Given the description of an element on the screen output the (x, y) to click on. 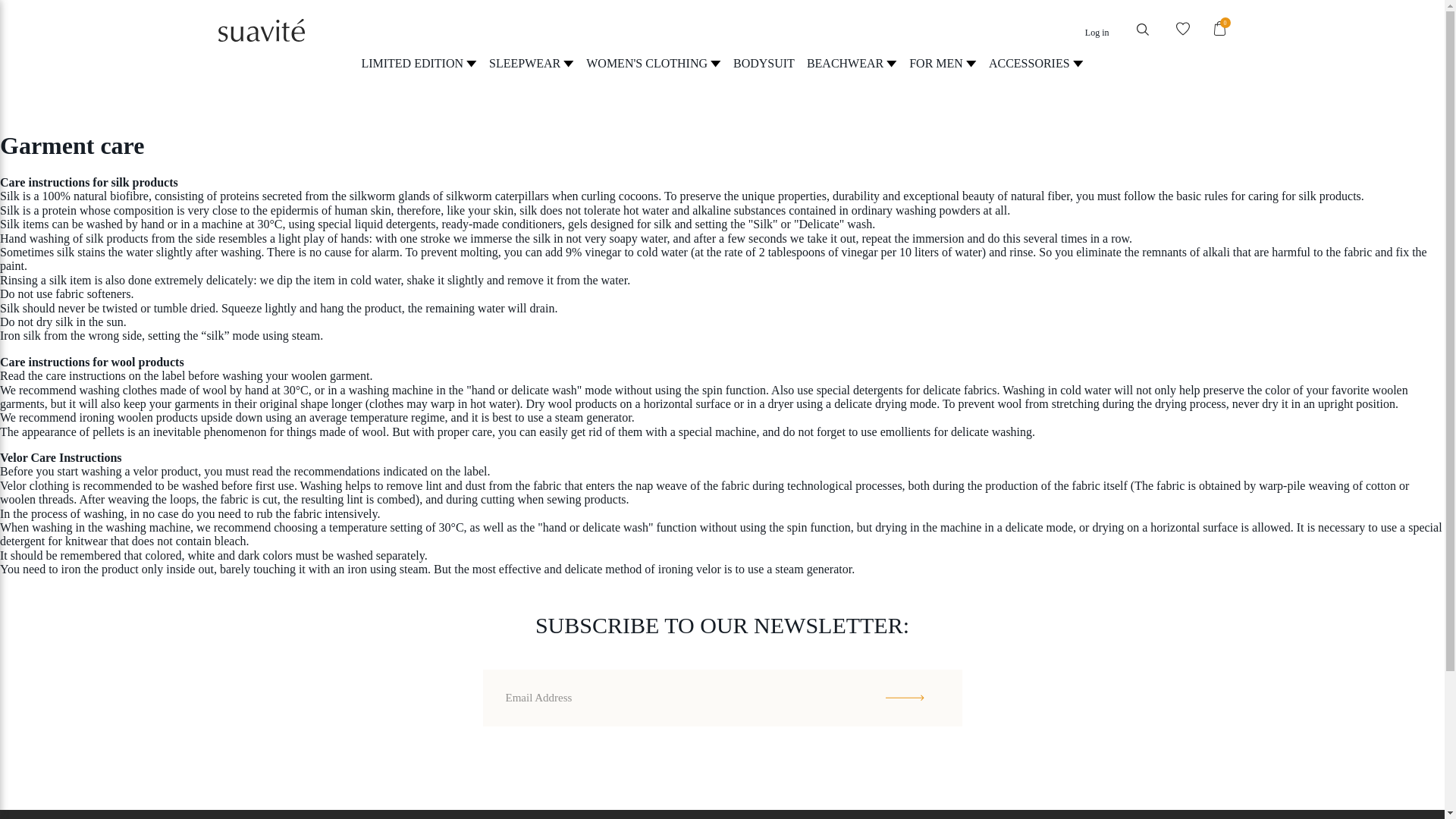
BODYSUIT (763, 62)
0 (1218, 28)
ACCESSORIES (1035, 62)
BEACHWEAR (851, 62)
FOR MEN (942, 62)
LIMITED EDITION (419, 62)
SLEEPWEAR (531, 62)
WOMEN'S CLOTHING (653, 62)
Log in (1096, 32)
